Given the description of an element on the screen output the (x, y) to click on. 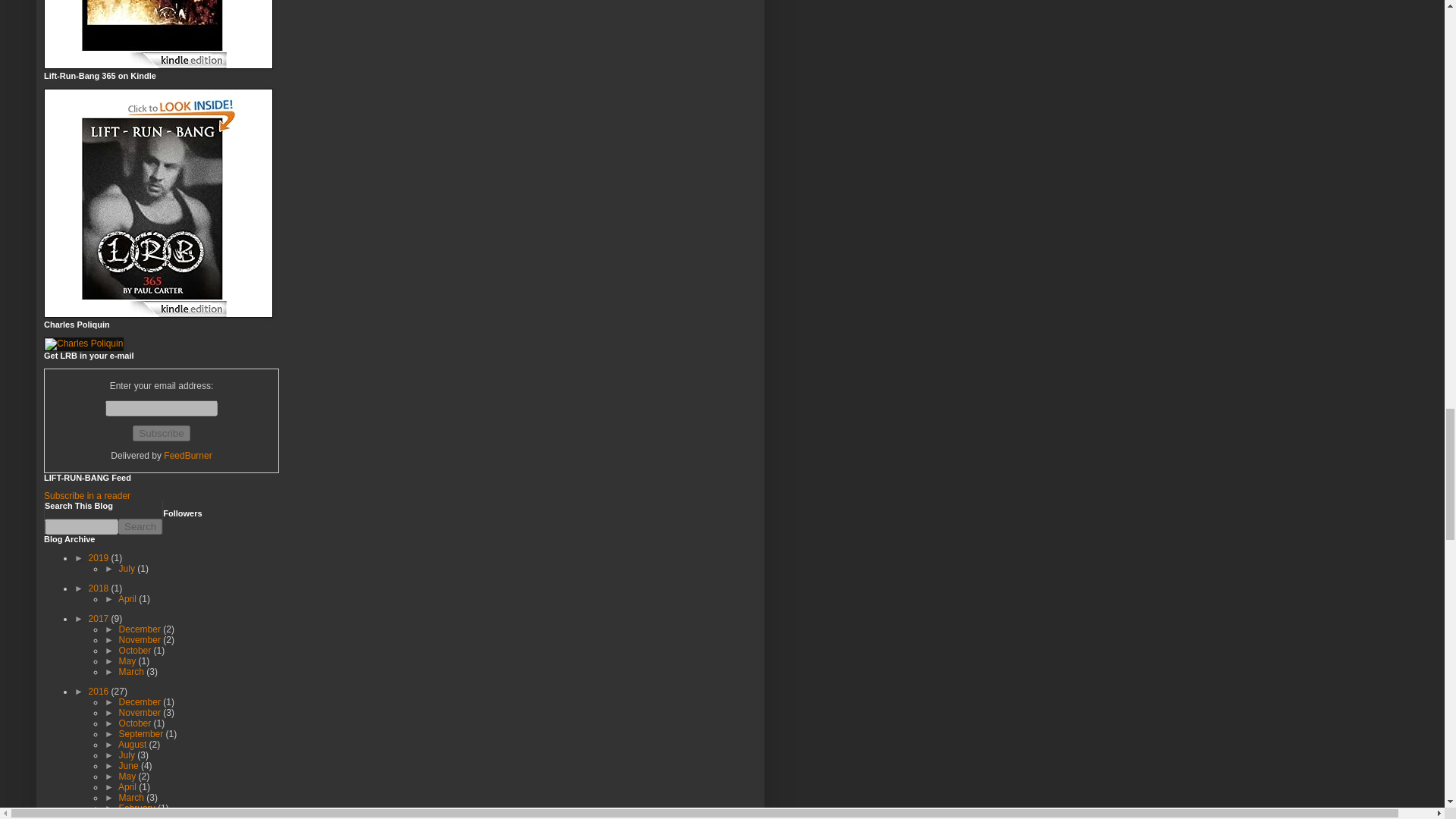
search (139, 526)
Search (139, 526)
Subscribe (160, 433)
search (81, 526)
Search (139, 526)
Subscribe to my feed (87, 495)
